Given the description of an element on the screen output the (x, y) to click on. 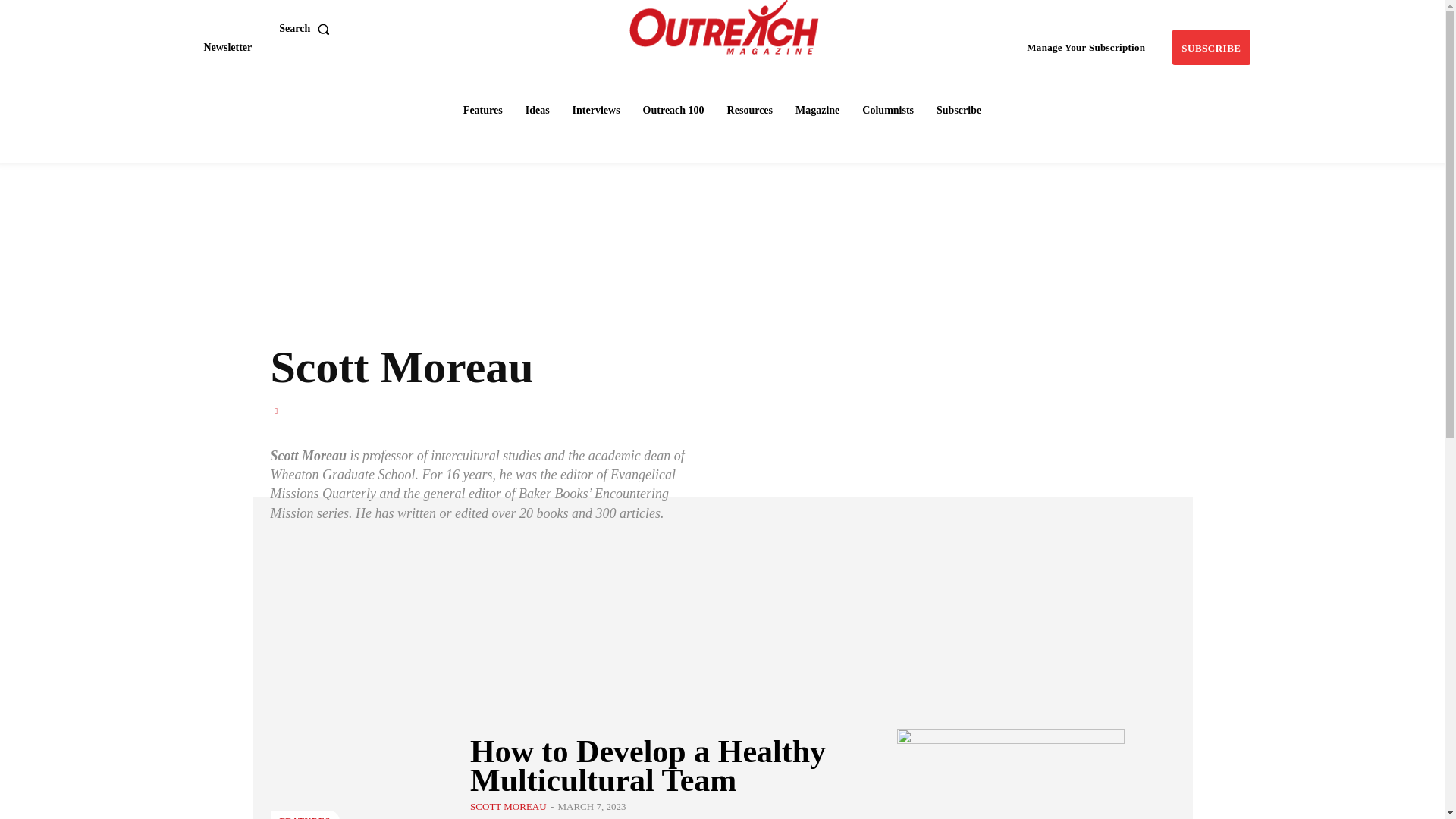
Subscribe (1210, 47)
Manage Your Subscription (1085, 47)
Newsletter (226, 47)
